Given the description of an element on the screen output the (x, y) to click on. 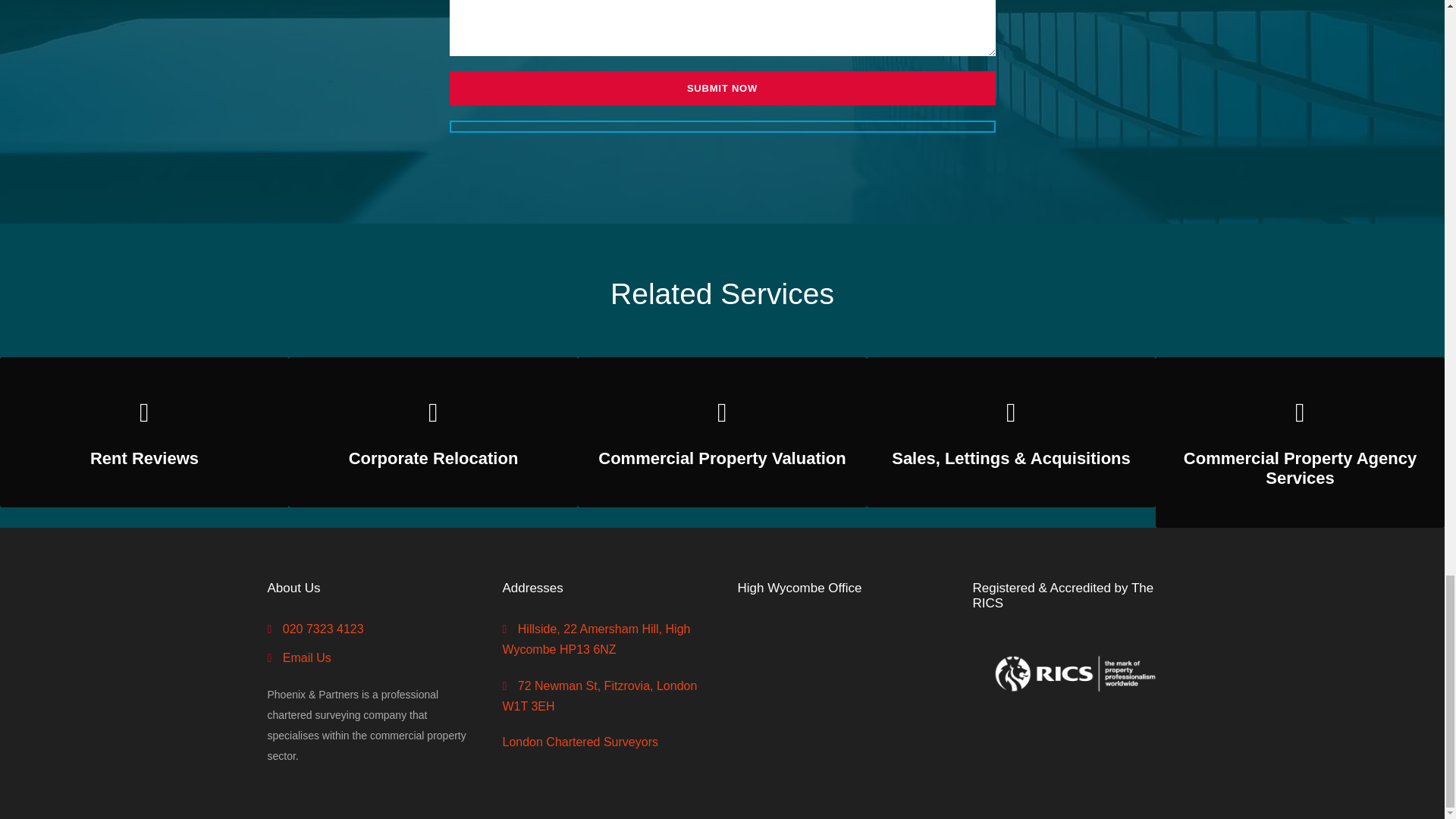
Hillside, 22 Amersham Hill, High Wycombe HP13 6NZ (596, 639)
Email Us (306, 657)
Submit Now (721, 88)
72 Newman St, Fitzrovia, London W1T 3EH (599, 695)
Submit Now (721, 88)
London Chartered Surveyors (580, 741)
020 7323 4123 (323, 628)
